Given the description of an element on the screen output the (x, y) to click on. 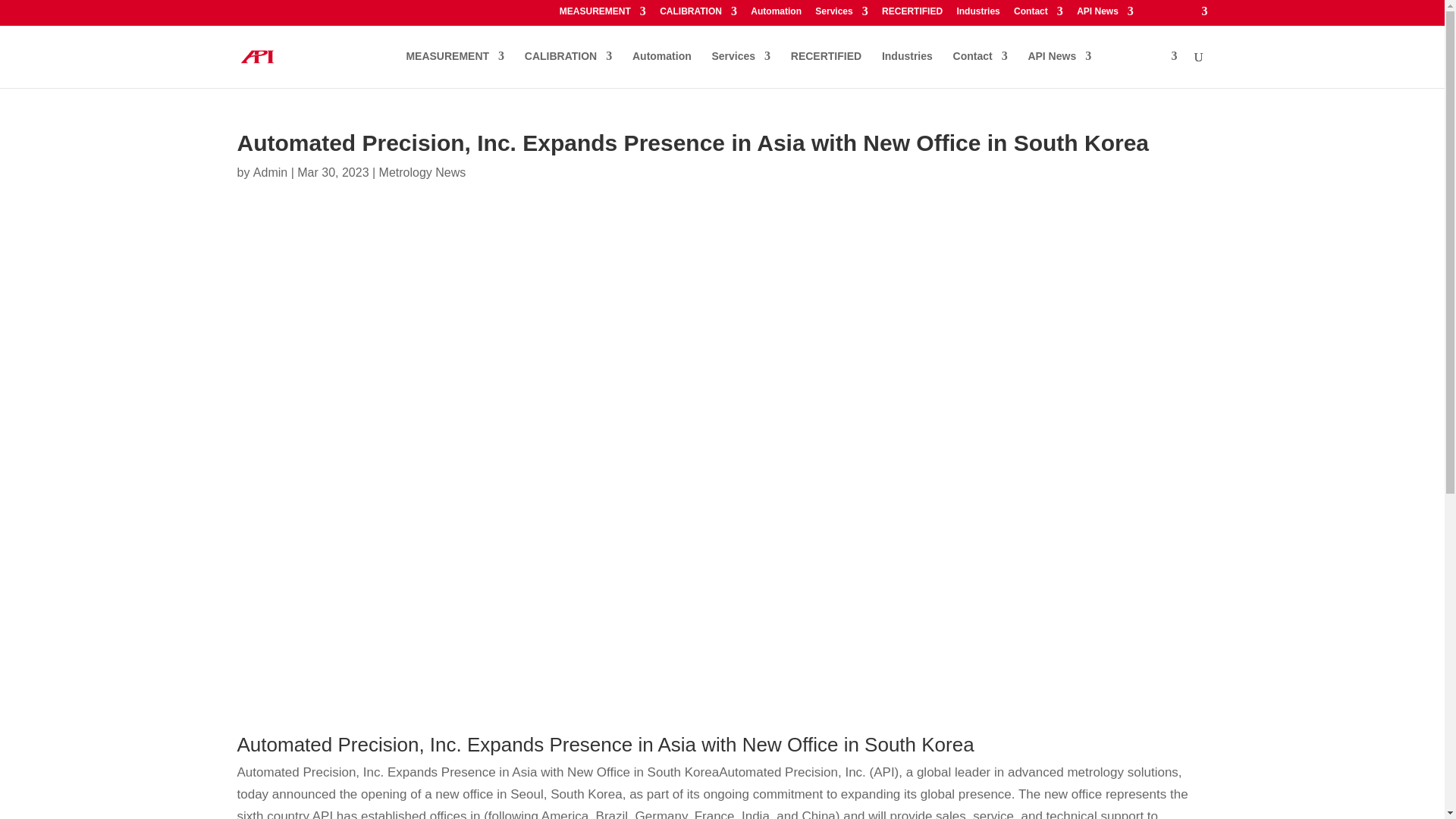
Industries (977, 14)
API News (1105, 14)
Services (841, 14)
Automation (776, 14)
CALIBRATION (697, 14)
MEASUREMENT (602, 14)
Contact (1037, 14)
RECERTIFIED (912, 14)
MEASUREMENT (454, 68)
Posts by Admin (269, 173)
